Given the description of an element on the screen output the (x, y) to click on. 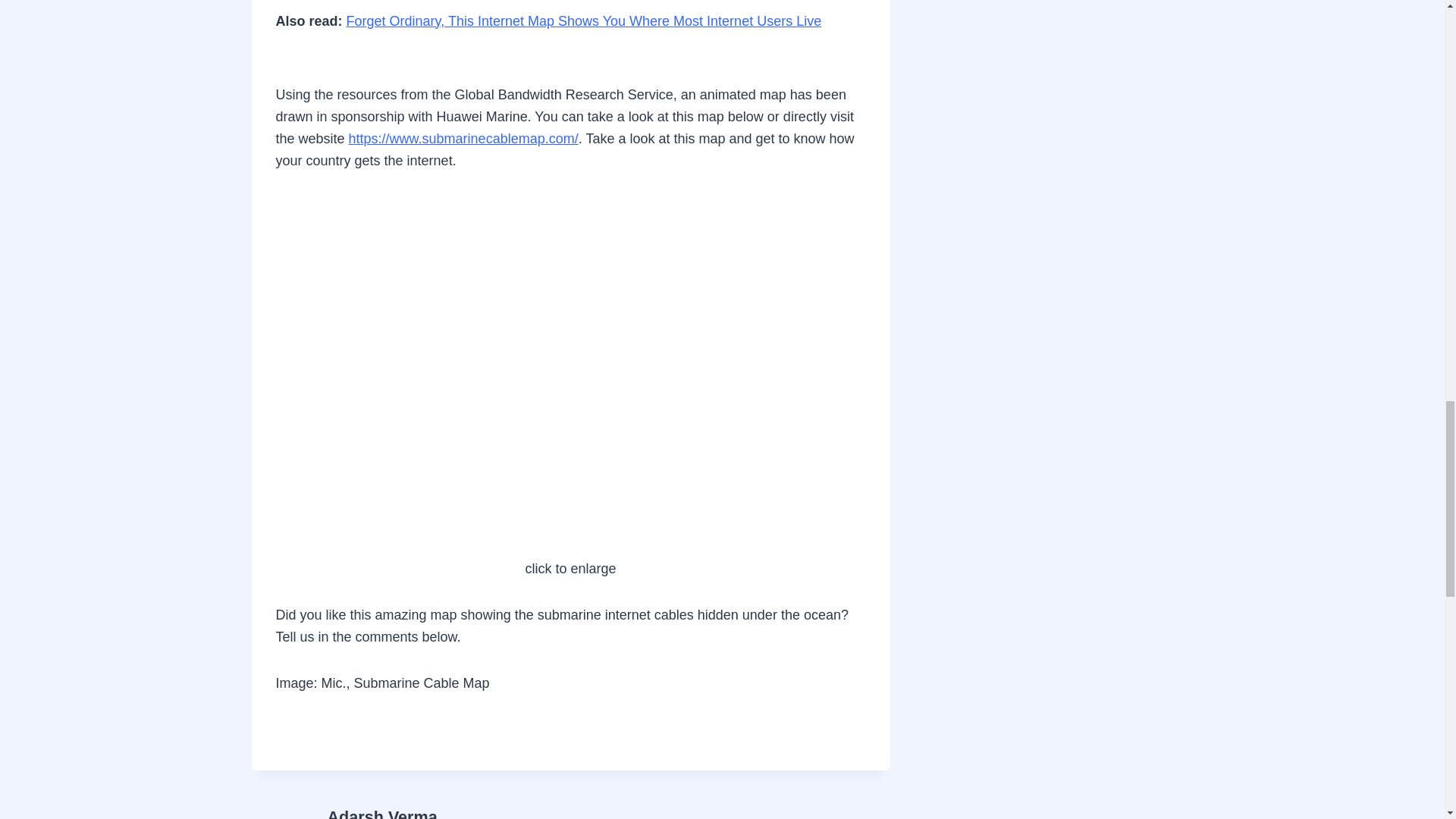
Posts by Adarsh Verma (382, 813)
Adarsh Verma (382, 813)
